Given the description of an element on the screen output the (x, y) to click on. 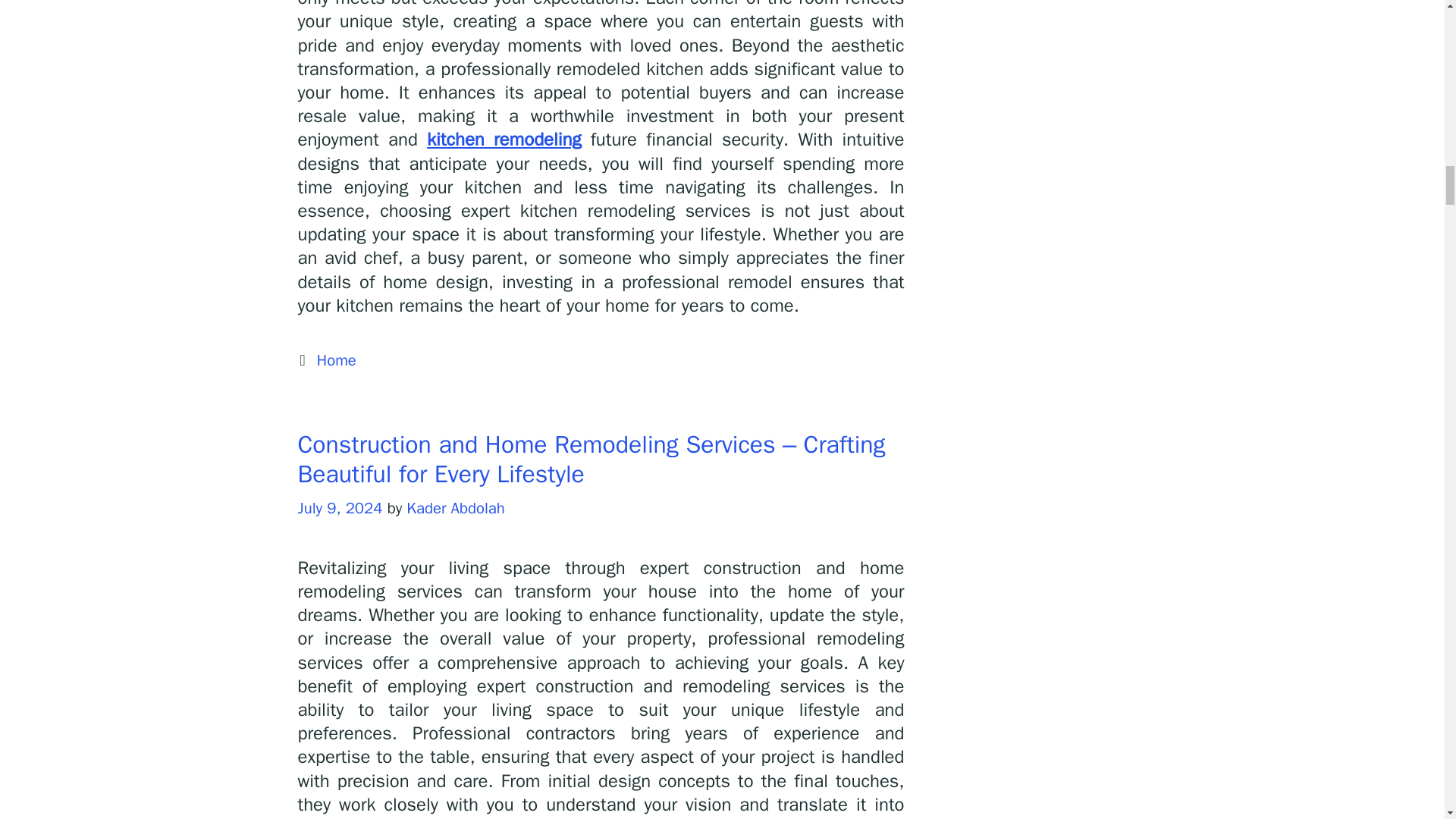
July 9, 2024 (339, 507)
6:03 am (339, 507)
View all posts by Kader Abdolah (454, 507)
Home (336, 360)
kitchen remodeling (503, 138)
Kader Abdolah (454, 507)
